Given the description of an element on the screen output the (x, y) to click on. 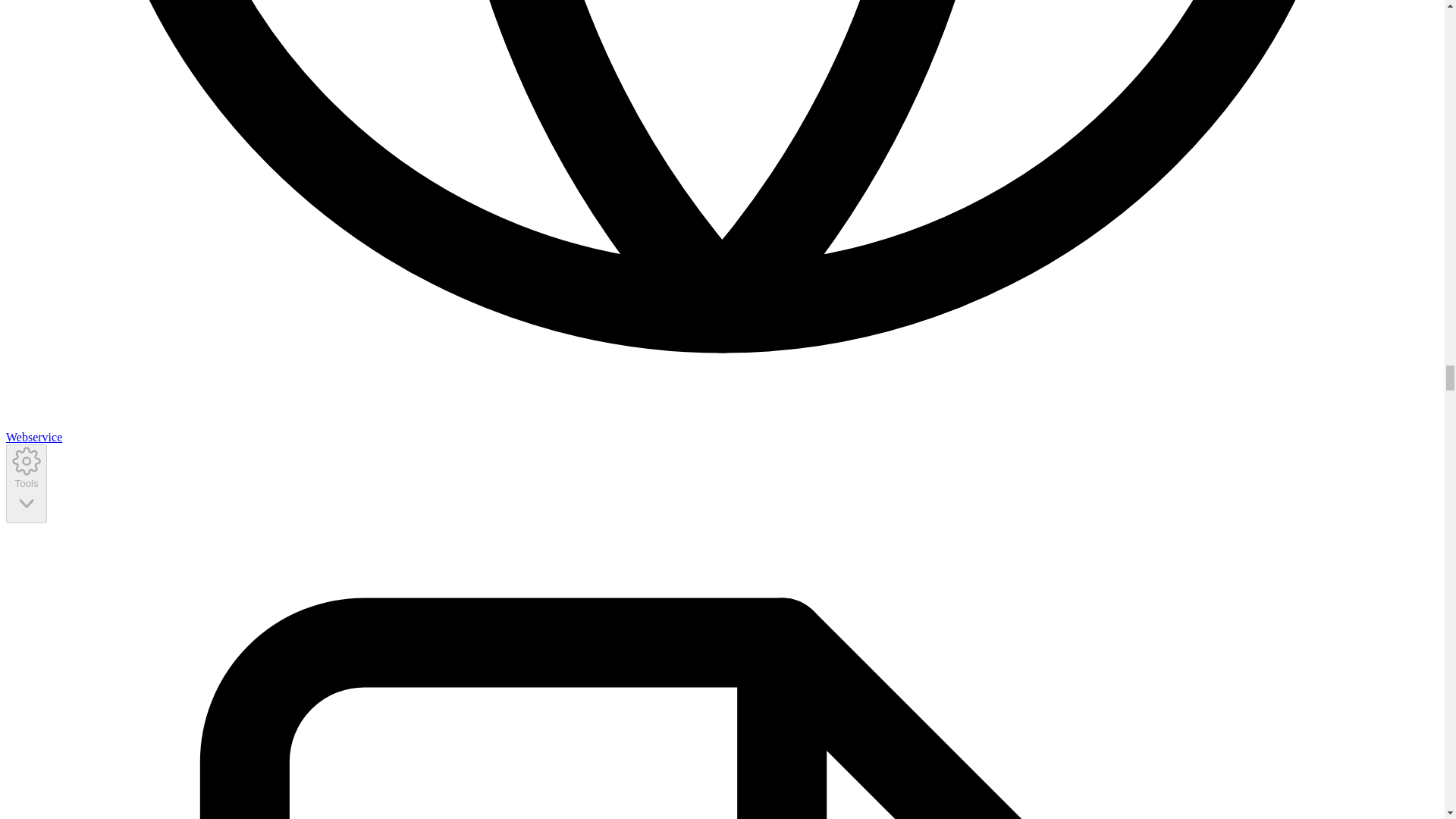
Webservice (33, 436)
